Given the description of an element on the screen output the (x, y) to click on. 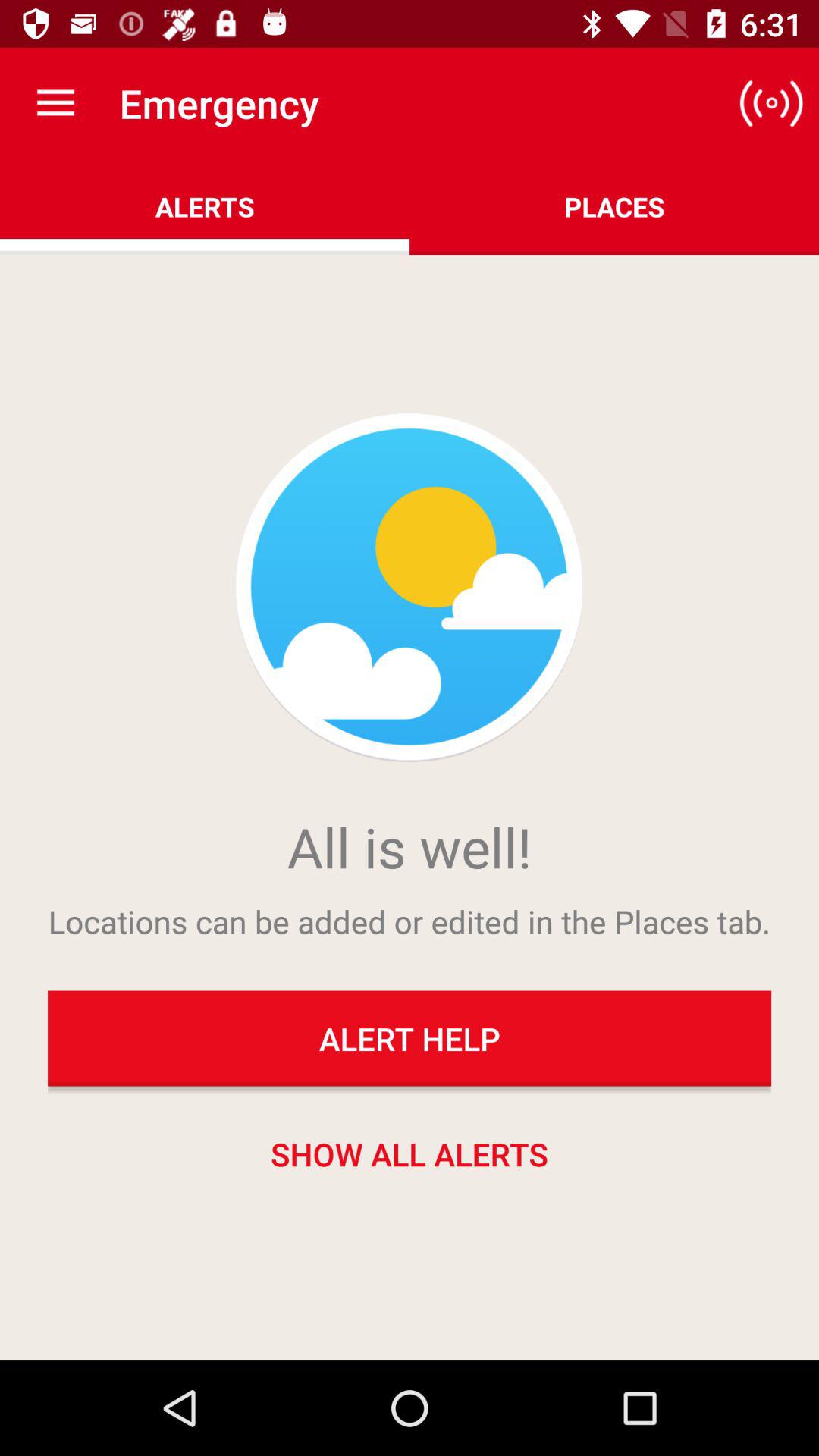
press app next to alerts app (771, 103)
